Given the description of an element on the screen output the (x, y) to click on. 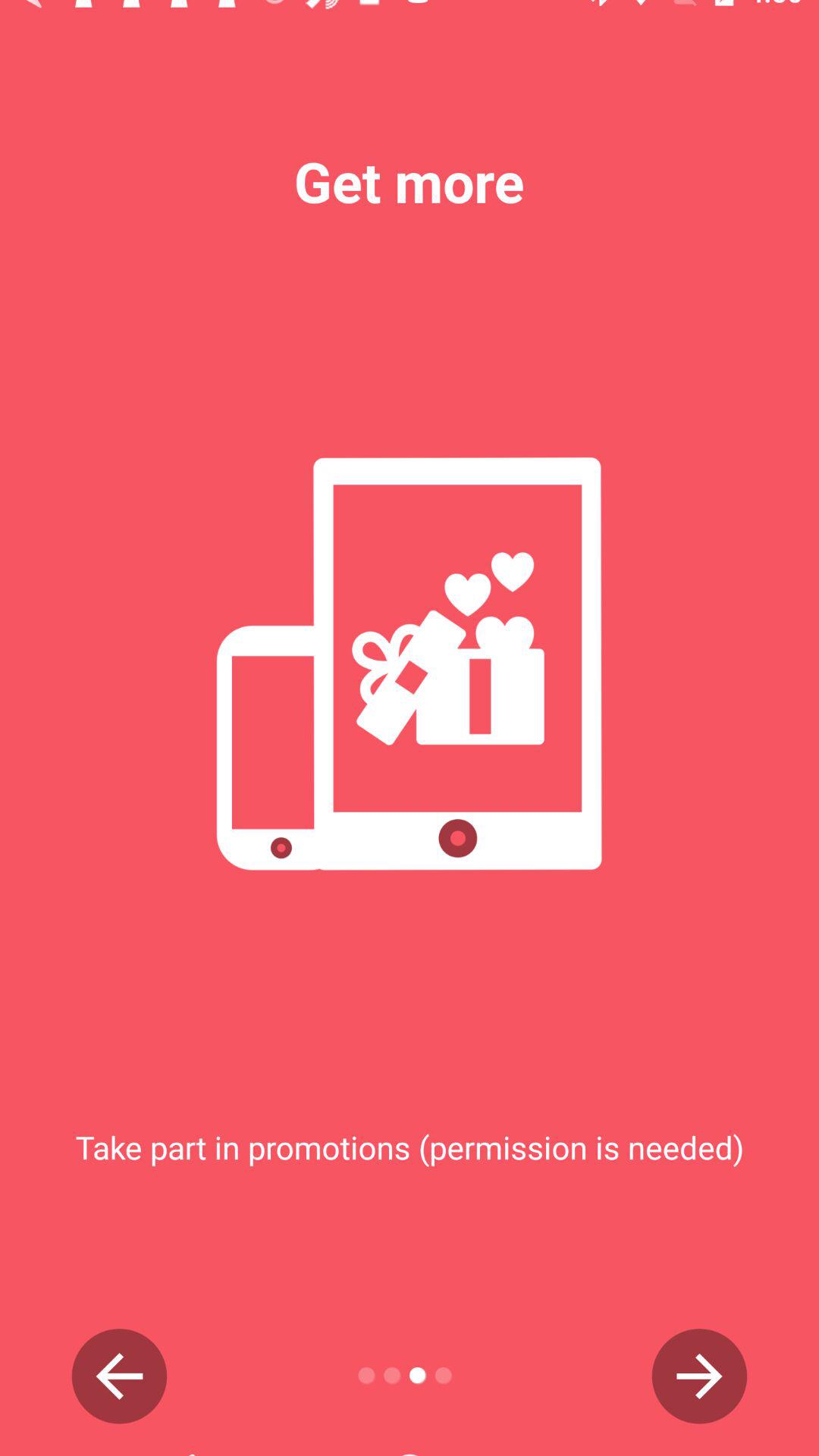
go to previous (119, 1376)
